Given the description of an element on the screen output the (x, y) to click on. 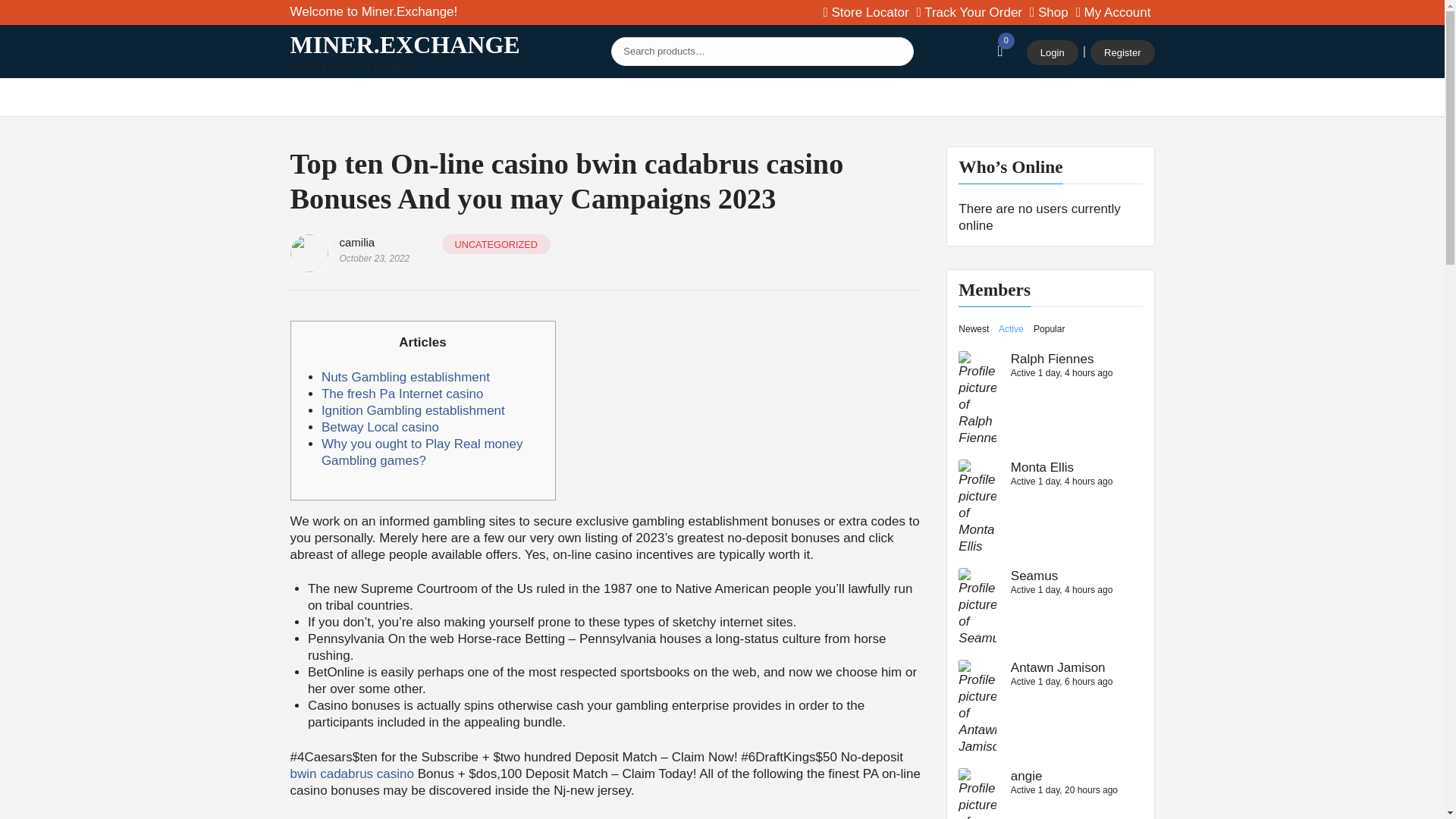
Community (652, 96)
Track Your Order (969, 12)
Shop (1048, 12)
Register (1122, 53)
Vendors (440, 96)
Storemate Features (541, 96)
Store Locator (866, 12)
Register (1122, 53)
Home (317, 96)
Cart (1048, 12)
Pages (729, 96)
Account (1113, 12)
My Account (1113, 12)
Location (866, 12)
Shop (374, 96)
